Given the description of an element on the screen output the (x, y) to click on. 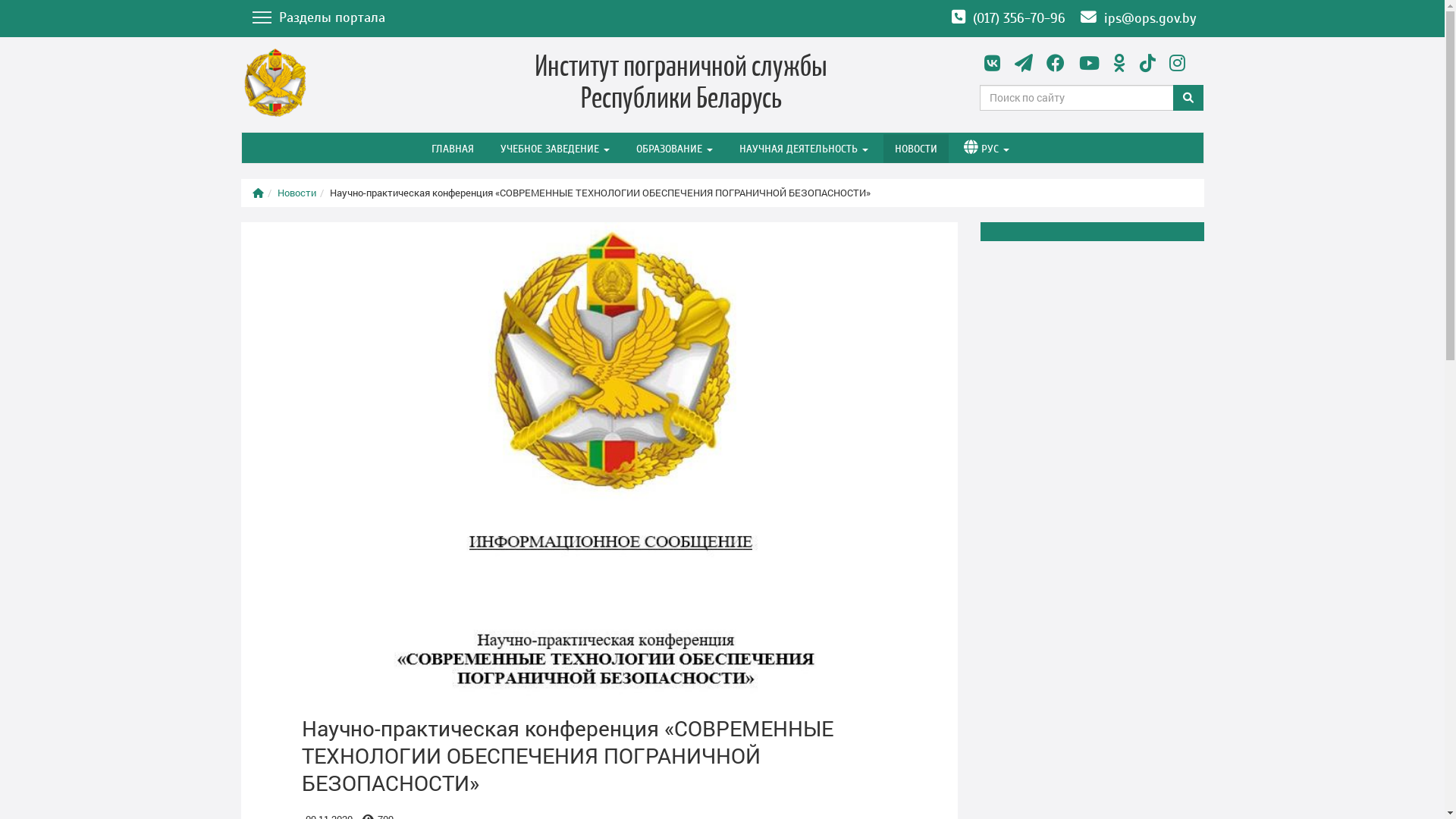
(017) 356-70-96 Element type: text (1007, 18)
ips@ops.gov.by Element type: text (1137, 18)
